Given the description of an element on the screen output the (x, y) to click on. 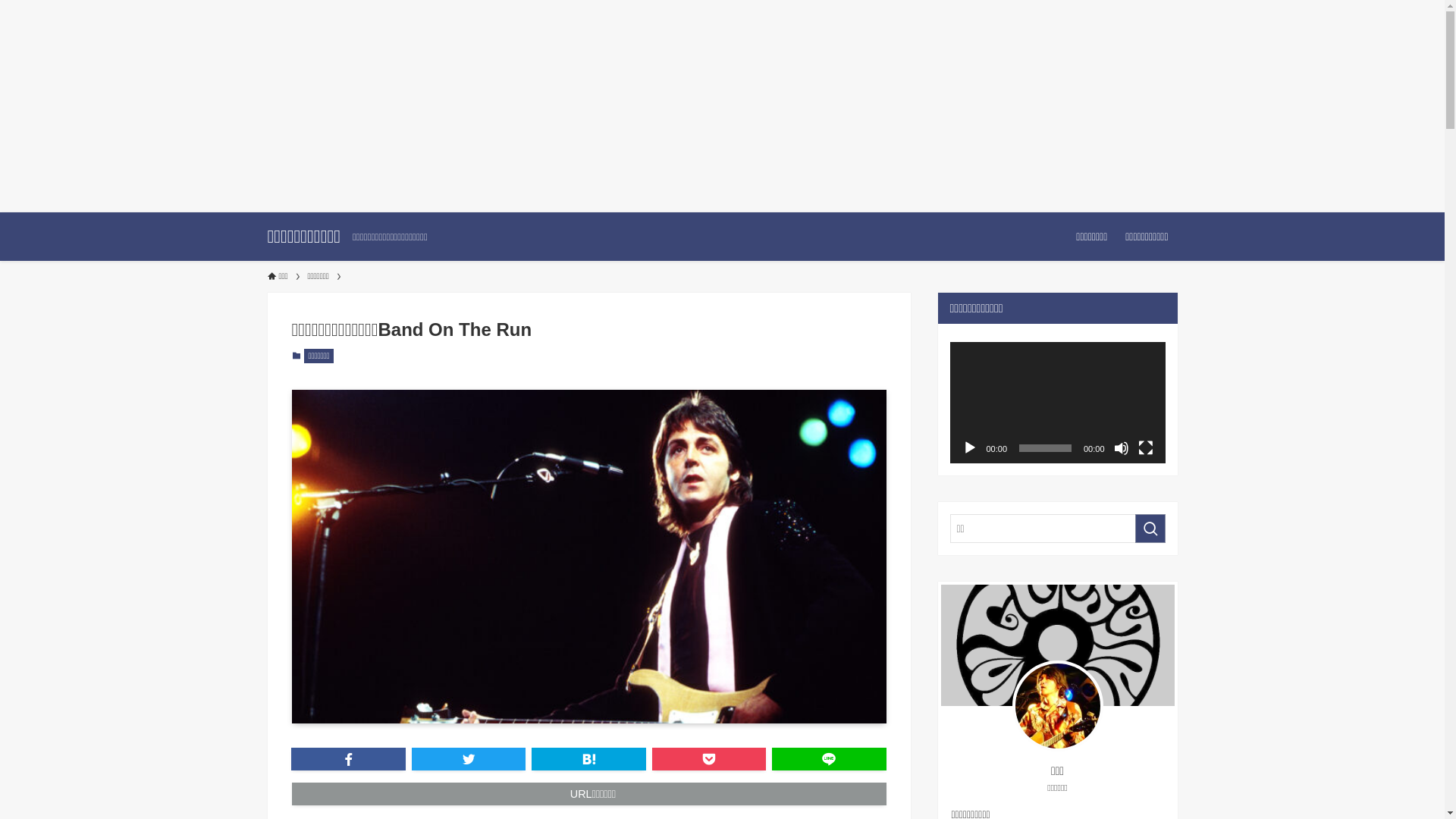
search Element type: text (921, 421)
Advertisement Element type: hover (455, 106)
search Element type: text (1149, 528)
